Given the description of an element on the screen output the (x, y) to click on. 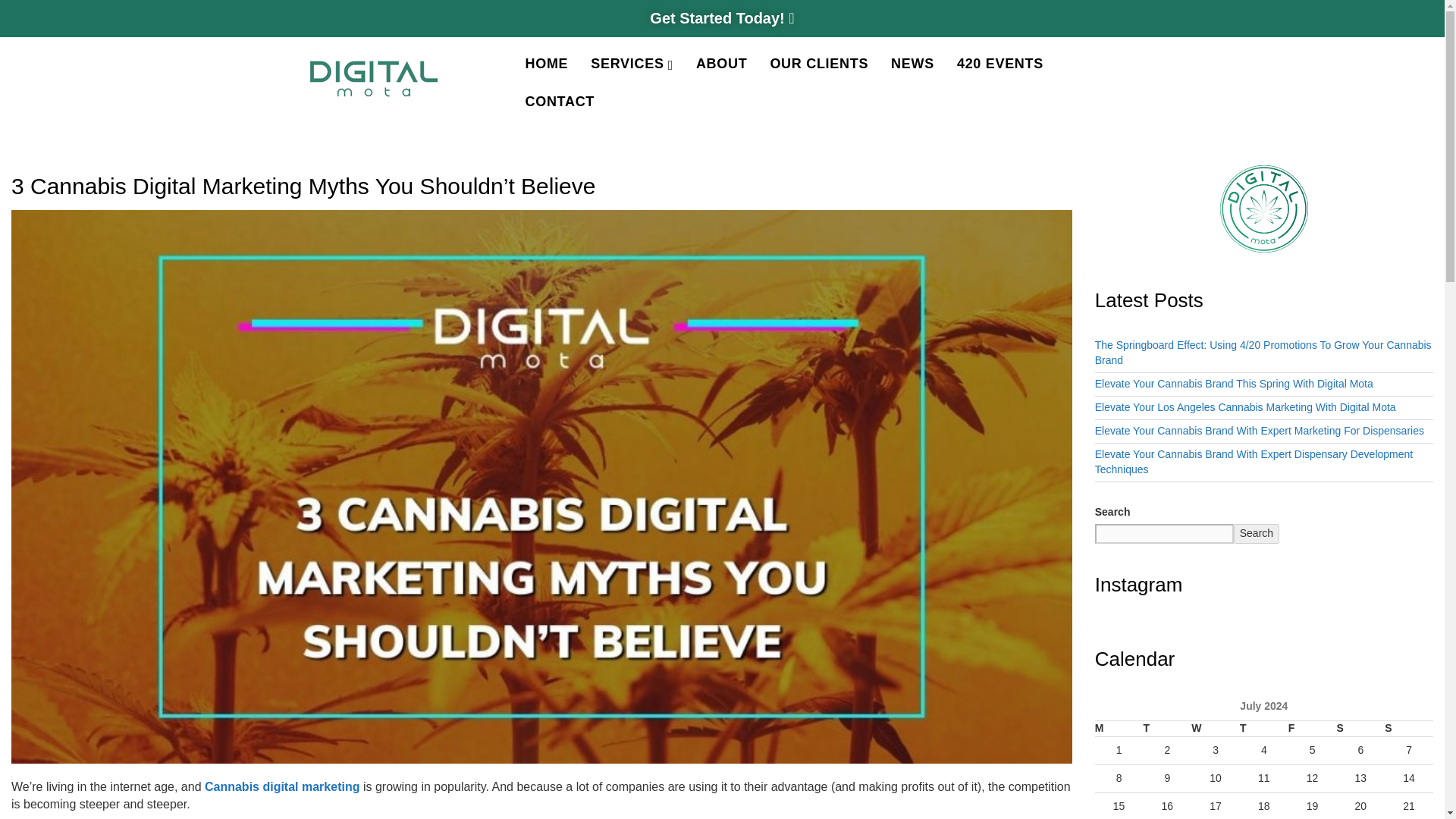
HOME (546, 63)
Get Started Today! (721, 17)
Monday (1118, 729)
Thursday (1264, 729)
Home (546, 63)
News (911, 63)
About (721, 63)
SERVICES (631, 63)
Friday (1312, 729)
Services (631, 63)
ABOUT (721, 63)
NEWS (911, 63)
420 EVENTS (999, 63)
